Given the description of an element on the screen output the (x, y) to click on. 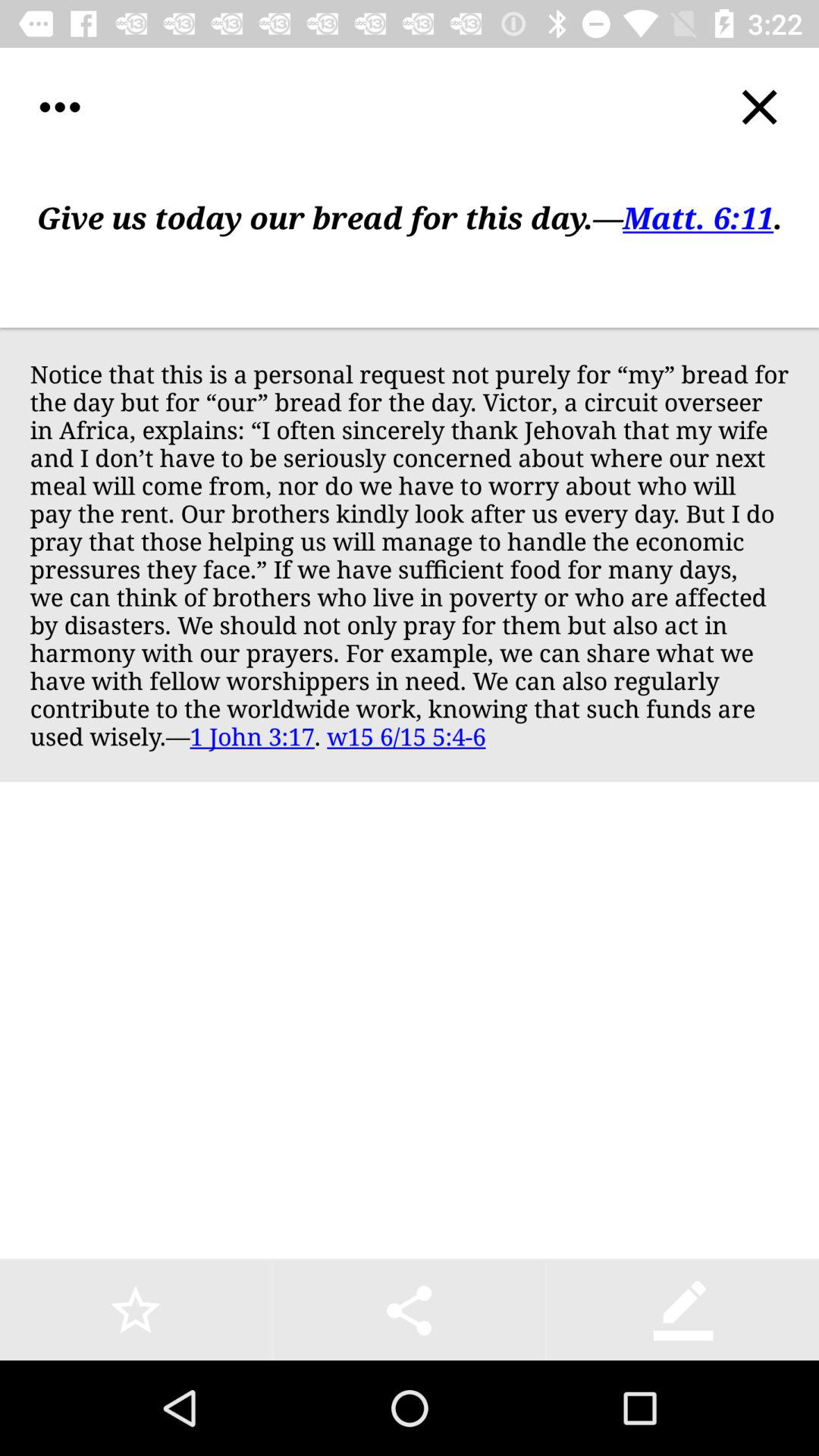
scroll until notice that this (409, 554)
